Given the description of an element on the screen output the (x, y) to click on. 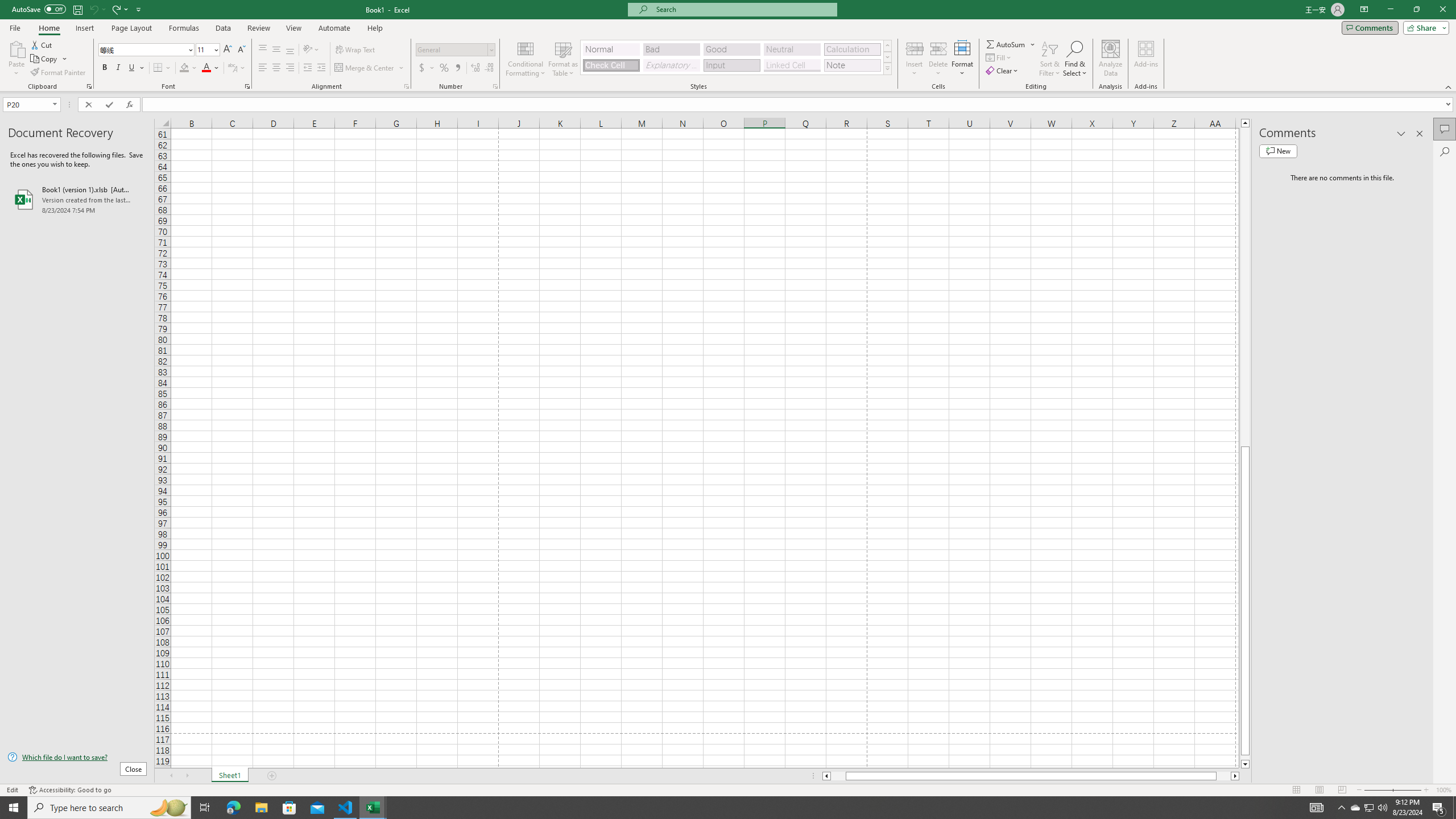
Fill Color RGB(255, 255, 0) (183, 67)
Italic (118, 67)
Format (962, 58)
AutomationID: CellStylesGallery (736, 57)
Font (147, 49)
Font Size (207, 49)
Increase Indent (320, 67)
Align Right (290, 67)
Increase Decimal (474, 67)
